Given the description of an element on the screen output the (x, y) to click on. 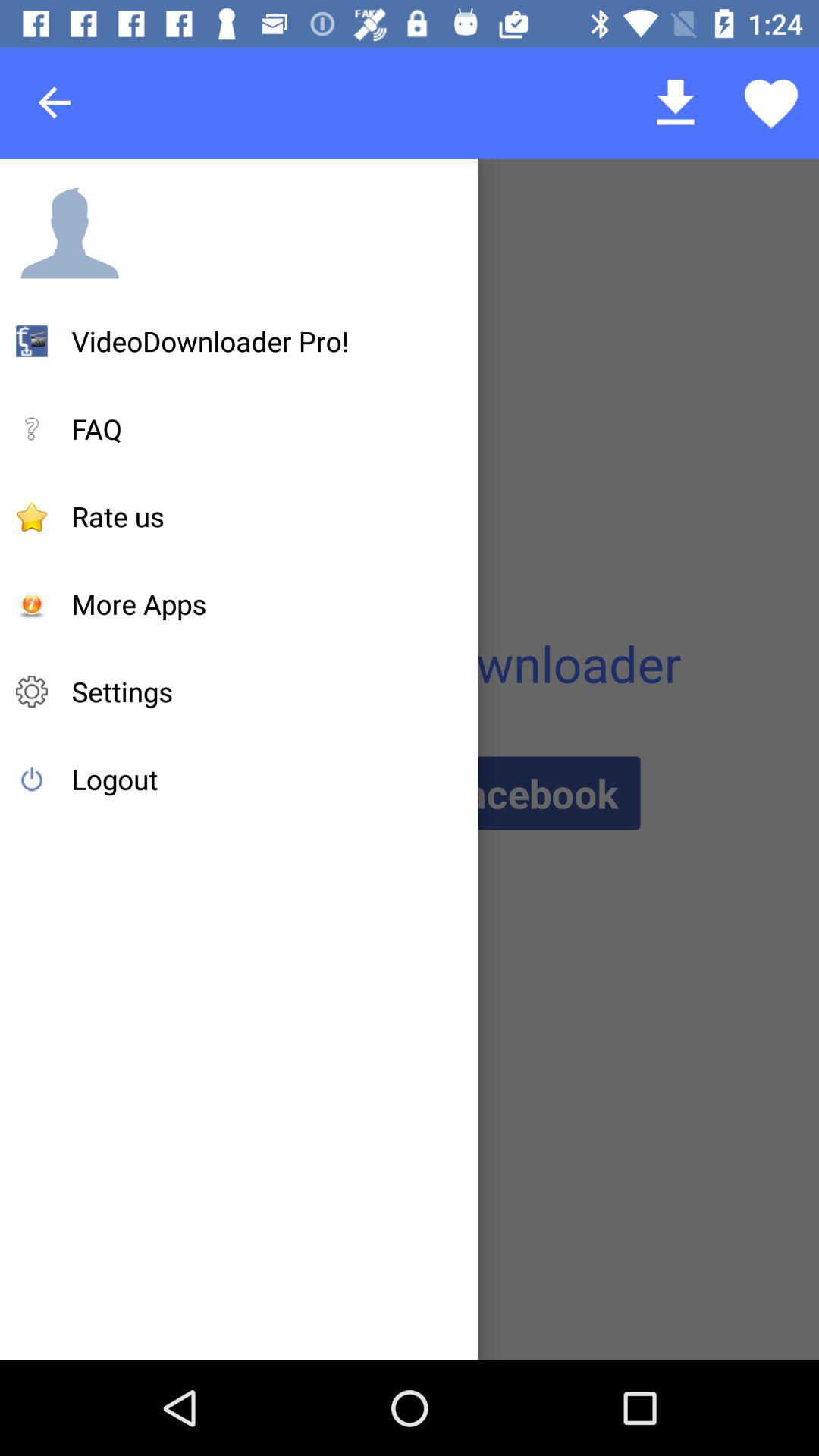
tap log in with (409, 792)
